Given the description of an element on the screen output the (x, y) to click on. 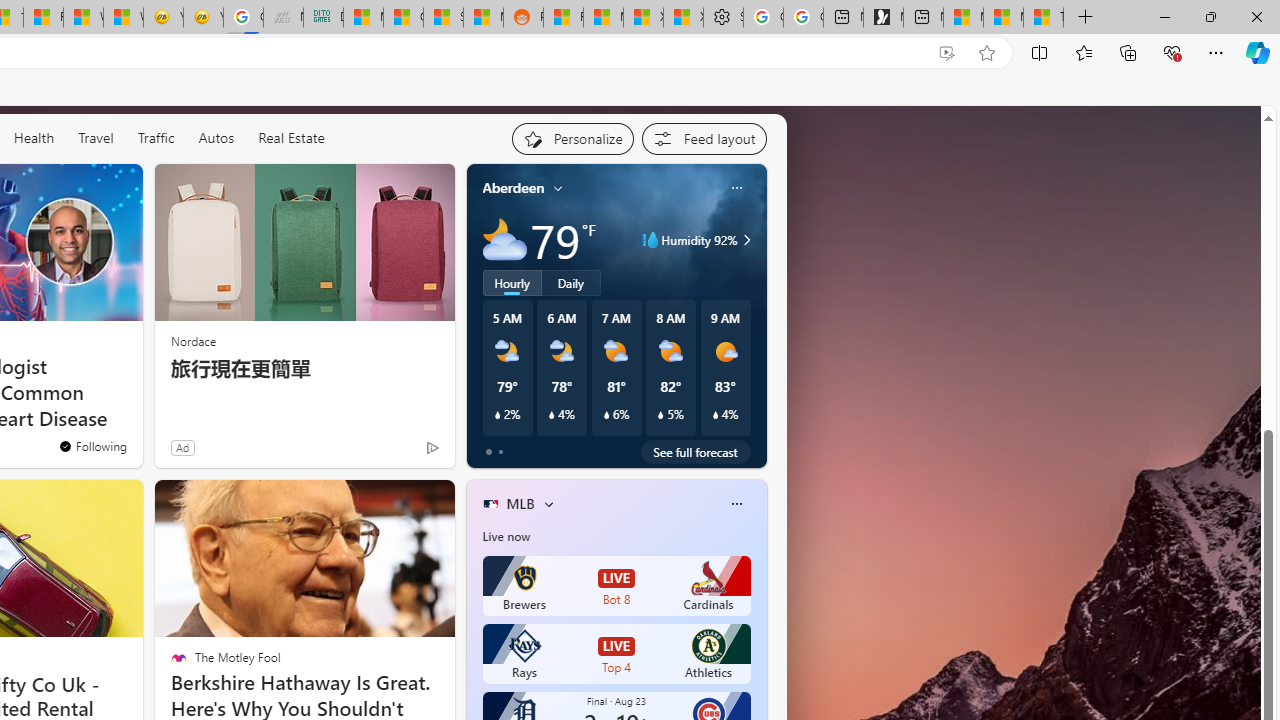
Mostly cloudy (504, 240)
Personalize your feed" (571, 138)
Real Estate (291, 137)
Rays LIVE Top 4 Athletics (616, 654)
Travel (95, 137)
DITOGAMES AG Imprint (323, 17)
Real Estate (290, 138)
Health (33, 138)
